Given the description of an element on the screen output the (x, y) to click on. 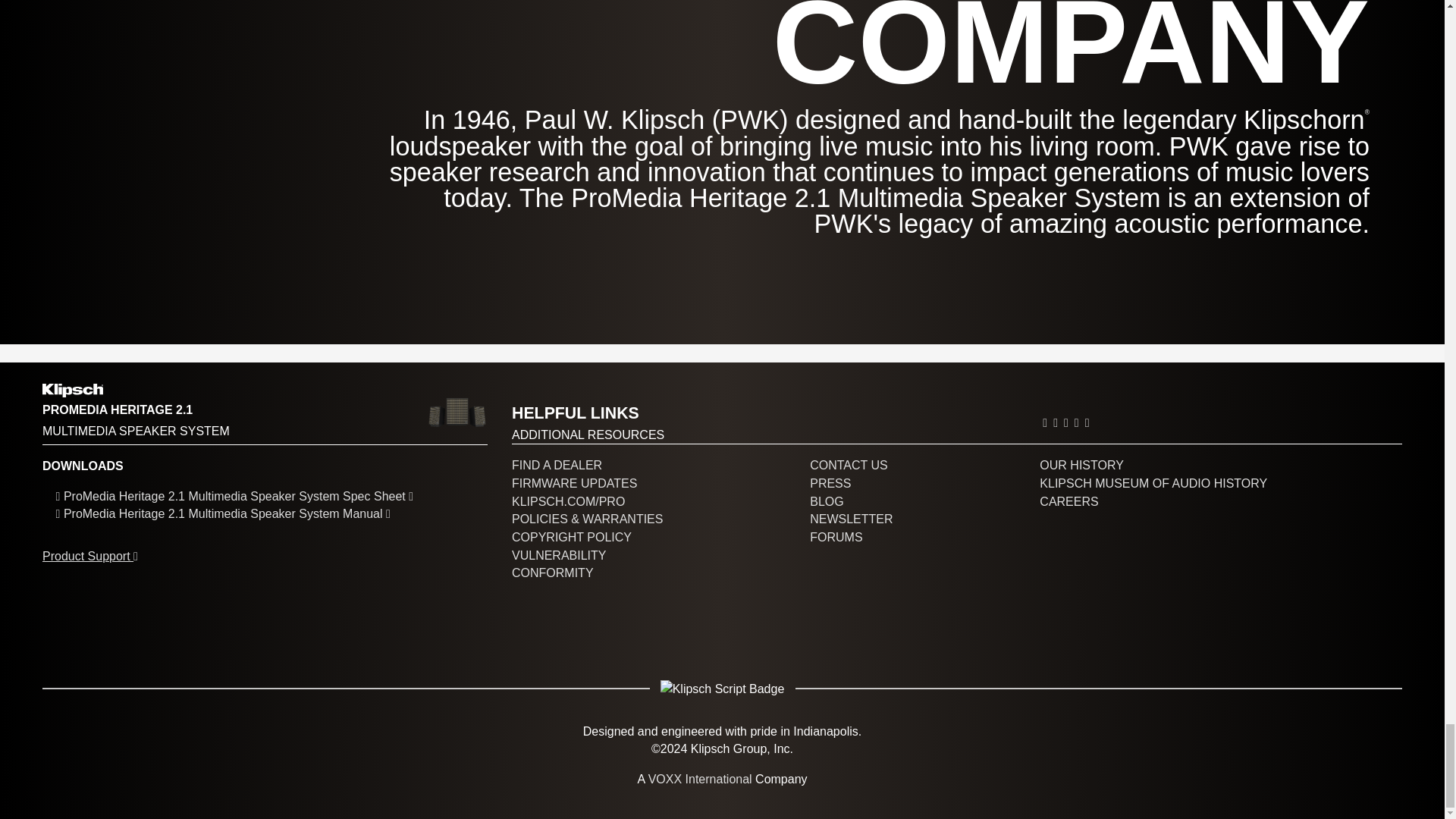
Like us on Facebook (1055, 422)
